Given the description of an element on the screen output the (x, y) to click on. 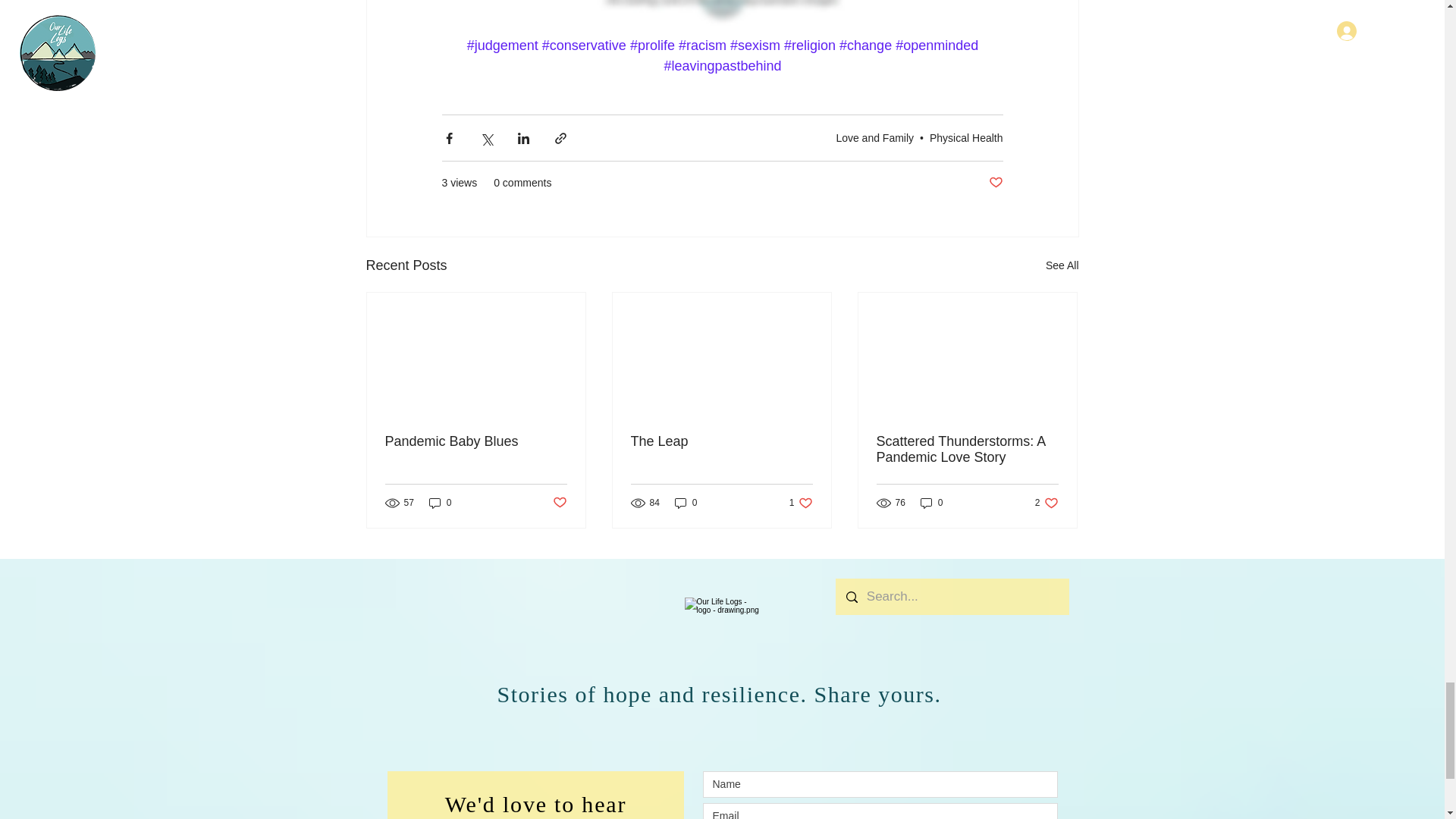
Love and Family (874, 137)
